Given the description of an element on the screen output the (x, y) to click on. 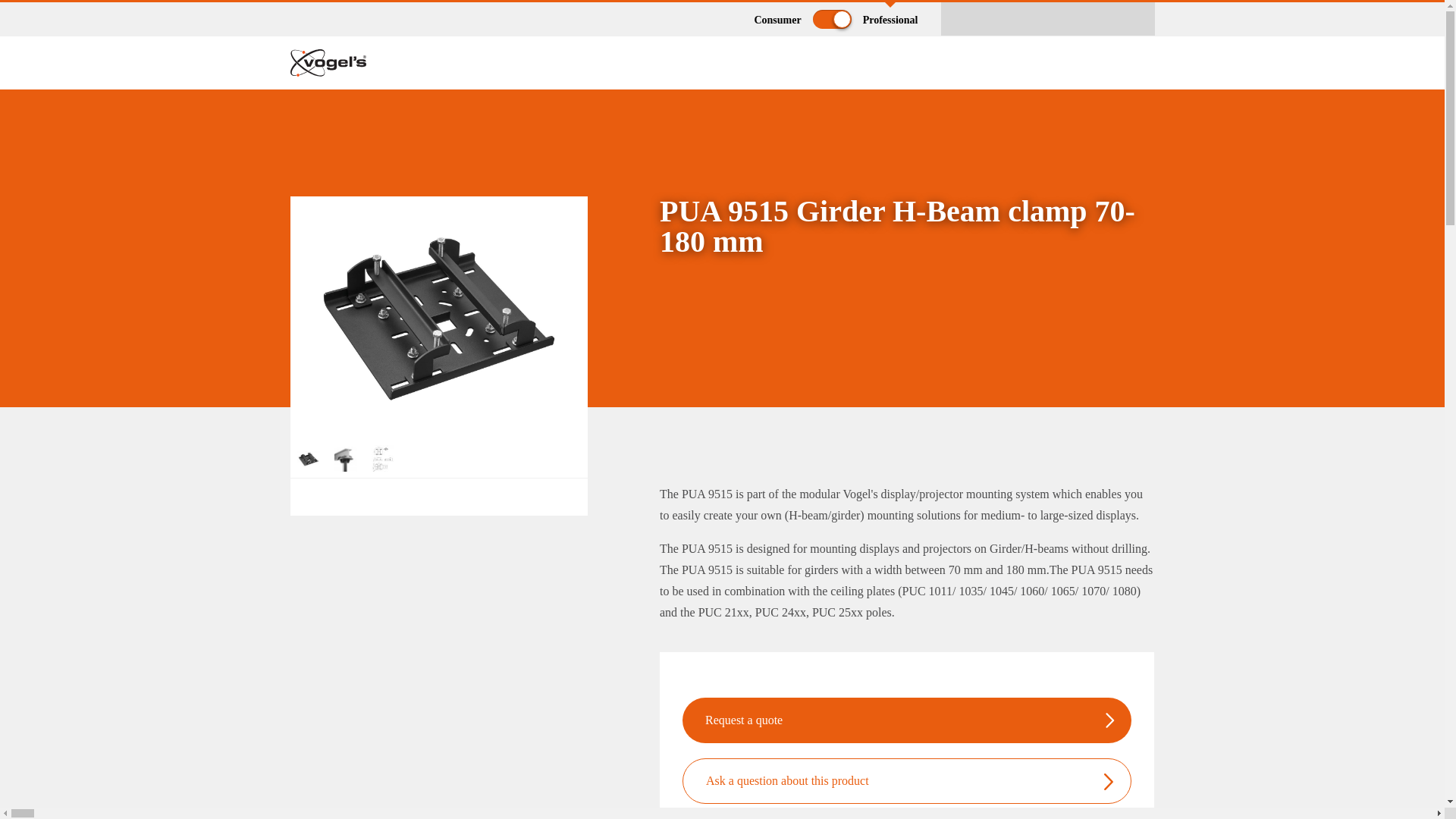
Ask a question about this product (787, 781)
Vogel's PUA 9515 Girder H-Beam clamp 70-180 mm - Application (345, 458)
Request a quote (743, 720)
Vogel's PUA 9515 Girder H-Beam clamp 70-180 mm - Product (438, 317)
